Given the description of an element on the screen output the (x, y) to click on. 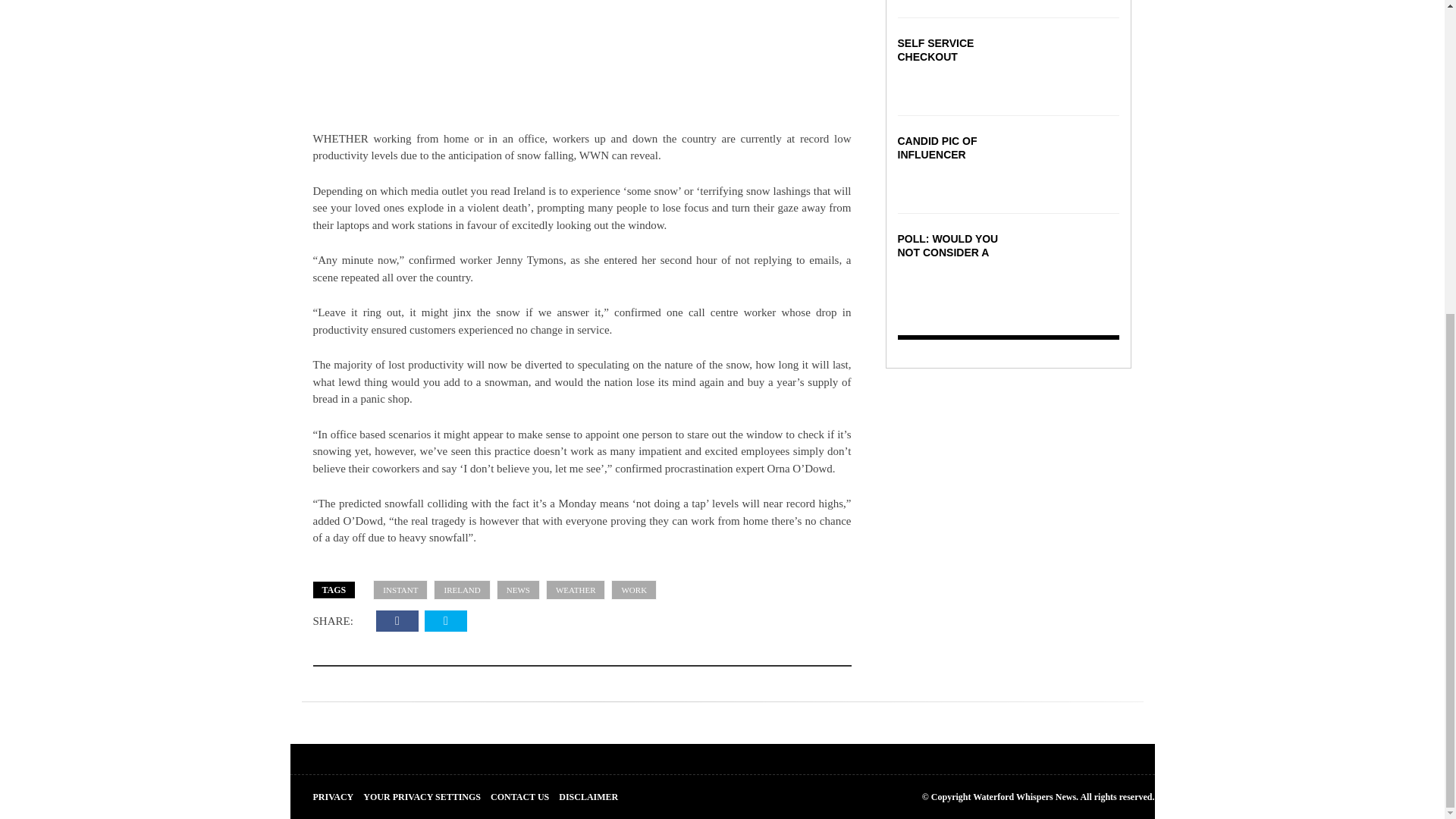
View all posts tagged news (518, 589)
View all posts tagged ireland (461, 589)
View all posts tagged instant (400, 589)
View all posts tagged weather (575, 589)
View all posts tagged work (633, 589)
